Given the description of an element on the screen output the (x, y) to click on. 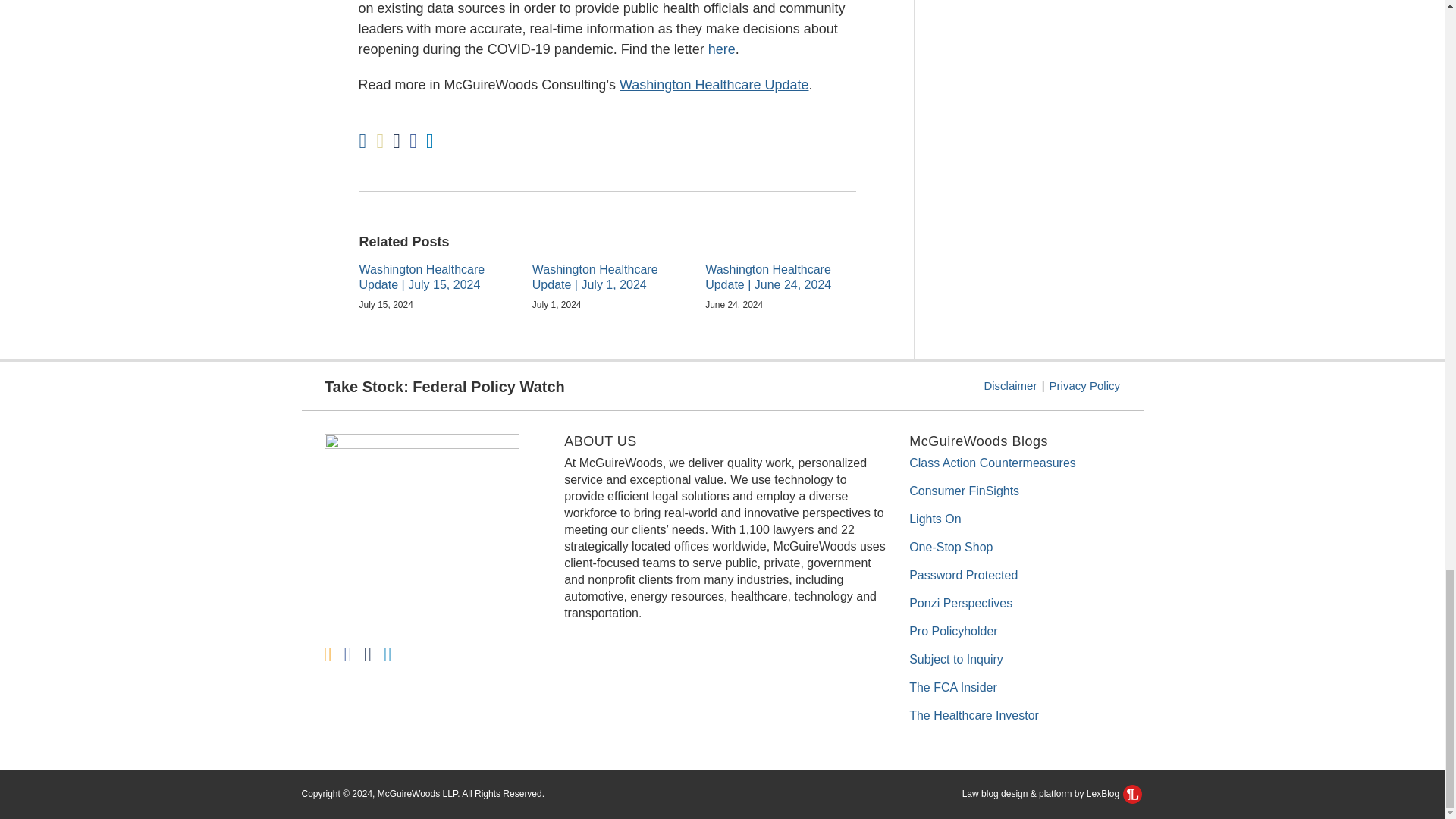
LexBlog Logo (1131, 793)
Take Stock: Federal Policy Watch (444, 386)
here (721, 48)
Disclaimer (1010, 385)
Washington Healthcare Update (714, 84)
Privacy Policy (1084, 385)
